Given the description of an element on the screen output the (x, y) to click on. 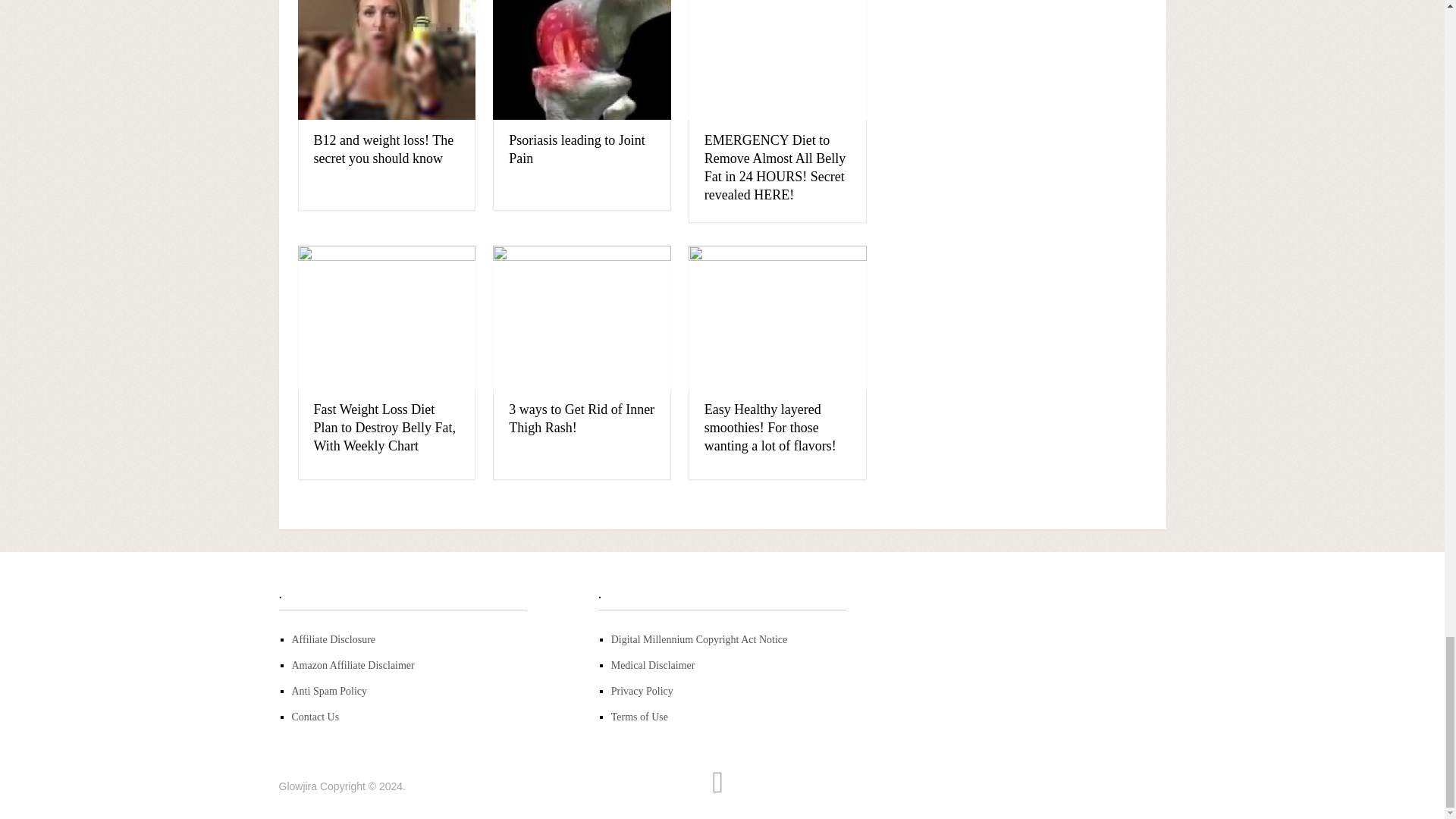
Psoriasis leading to Joint Pain (576, 149)
Psoriasis leading to Joint Pain (576, 149)
3 ways to Get Rid of Inner Thigh Rash! (580, 418)
Psoriasis leading to Joint Pain (582, 60)
B12 and weight loss! The secret you should know (384, 149)
3 ways to Get Rid of Inner Thigh Rash! (582, 317)
